Given the description of an element on the screen output the (x, y) to click on. 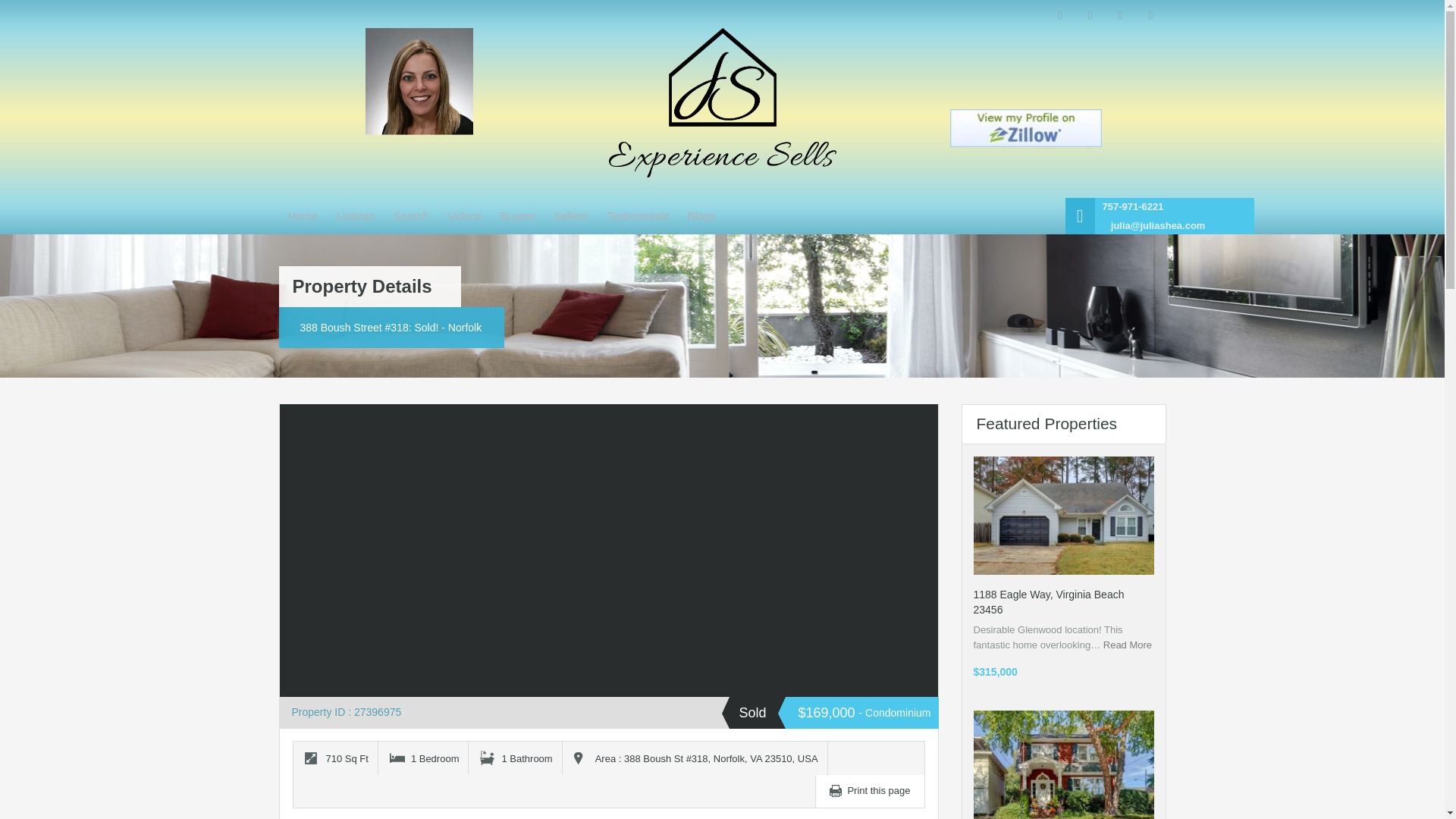
Buyers (518, 216)
Testimonials (637, 216)
Blogs (701, 216)
Search (411, 216)
Norfolk Chesapeake Virginia Beach VA real estate REALTOR (721, 102)
Home (303, 216)
757-971-6221 (1132, 207)
Videos (465, 216)
1188 Eagle Way, Virginia Beach 23456 (1049, 601)
Listings (355, 216)
